Given the description of an element on the screen output the (x, y) to click on. 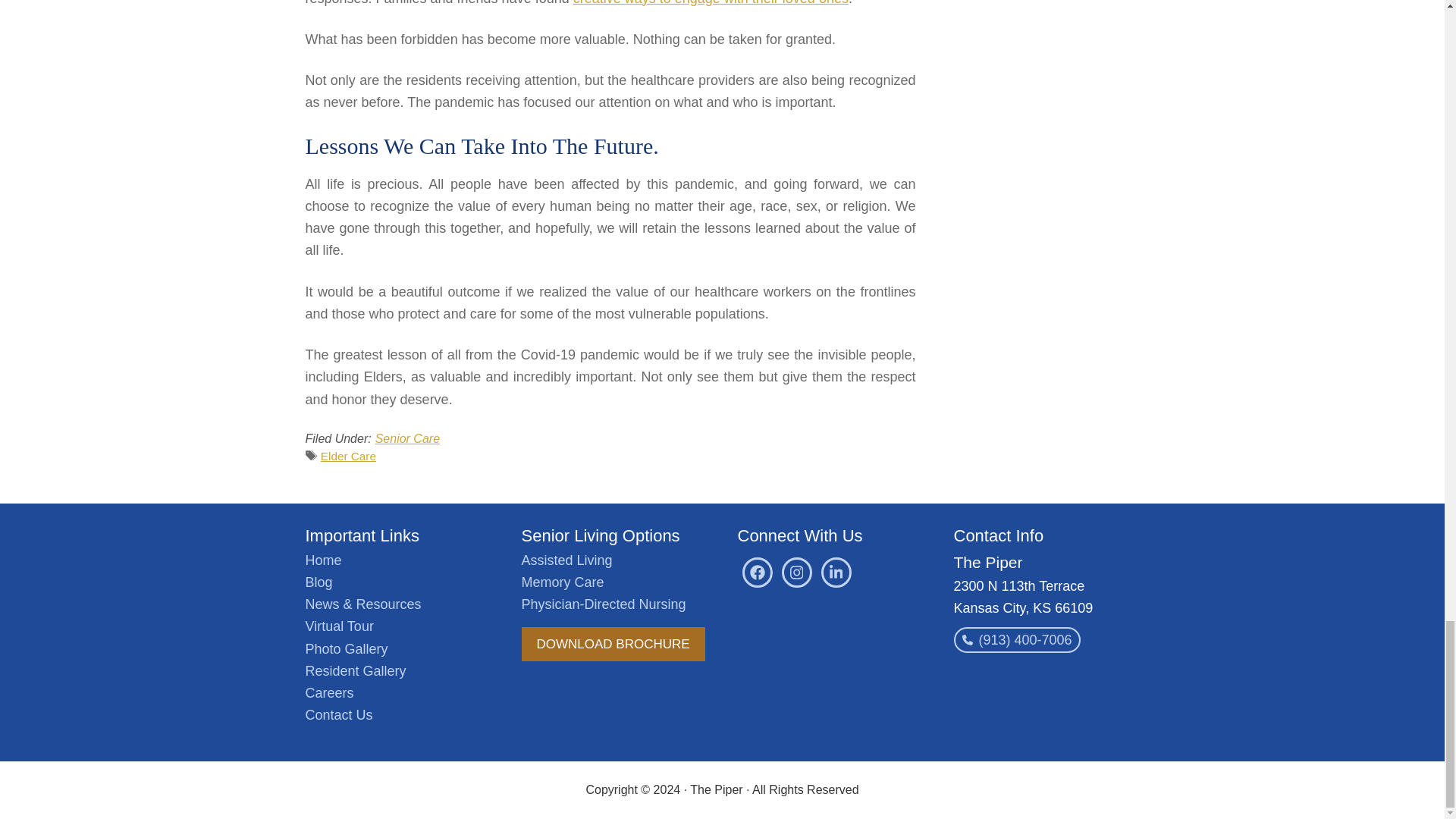
Blog (317, 581)
Linkedin (835, 572)
Resident Gallery (355, 670)
Senior Care (407, 438)
Facebook (756, 572)
Home (322, 560)
Elder Care (347, 455)
Instagram (795, 572)
creative ways to engage with their loved ones (710, 2)
Virtual Tour (338, 626)
